Given the description of an element on the screen output the (x, y) to click on. 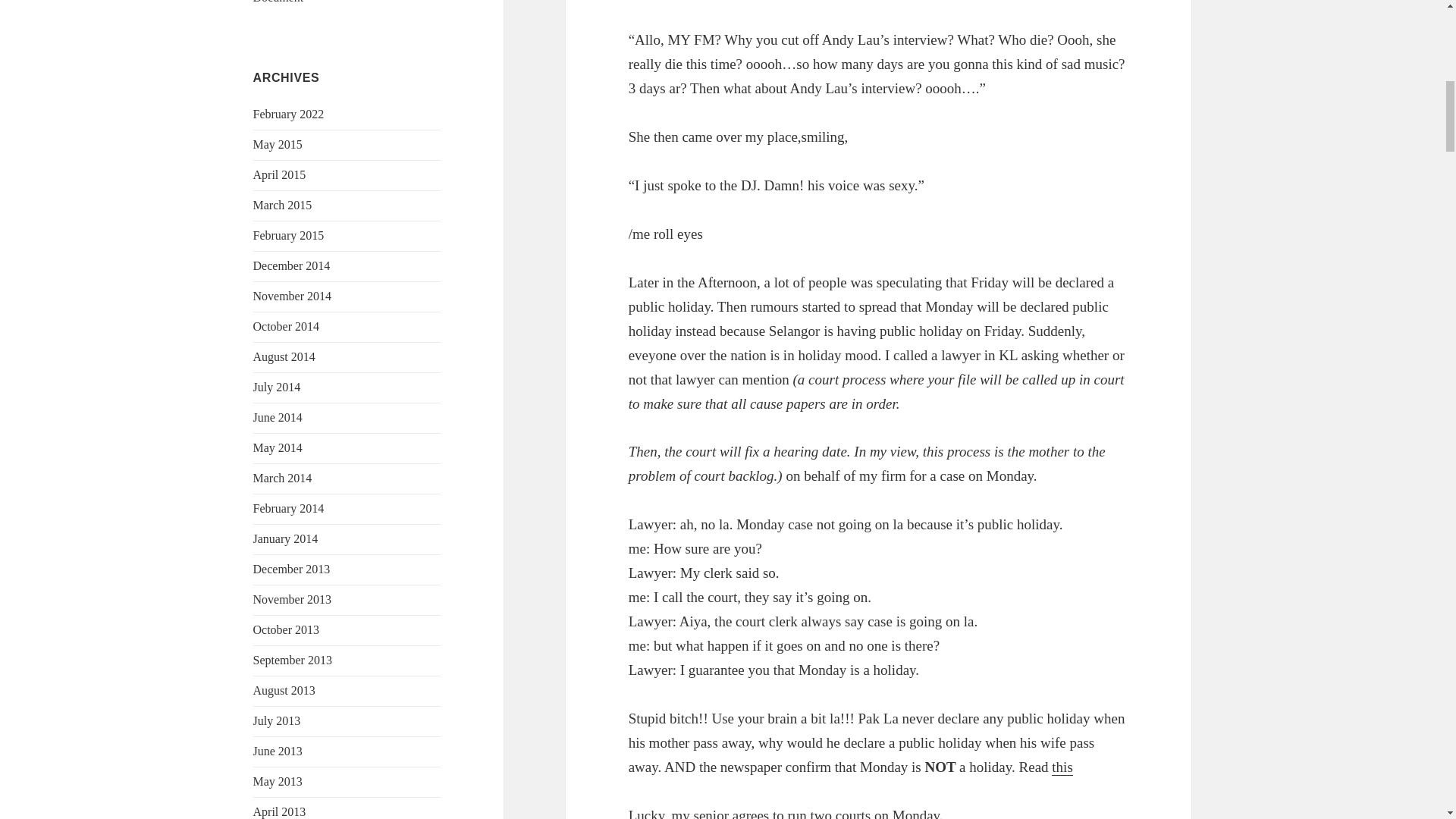
October 2013 (286, 629)
June 2013 (277, 750)
February 2014 (288, 508)
May 2015 (277, 144)
January 2014 (285, 538)
May 2013 (277, 780)
August 2013 (284, 689)
May 2014 (277, 447)
February 2015 (288, 235)
August 2014 (284, 356)
